Given the description of an element on the screen output the (x, y) to click on. 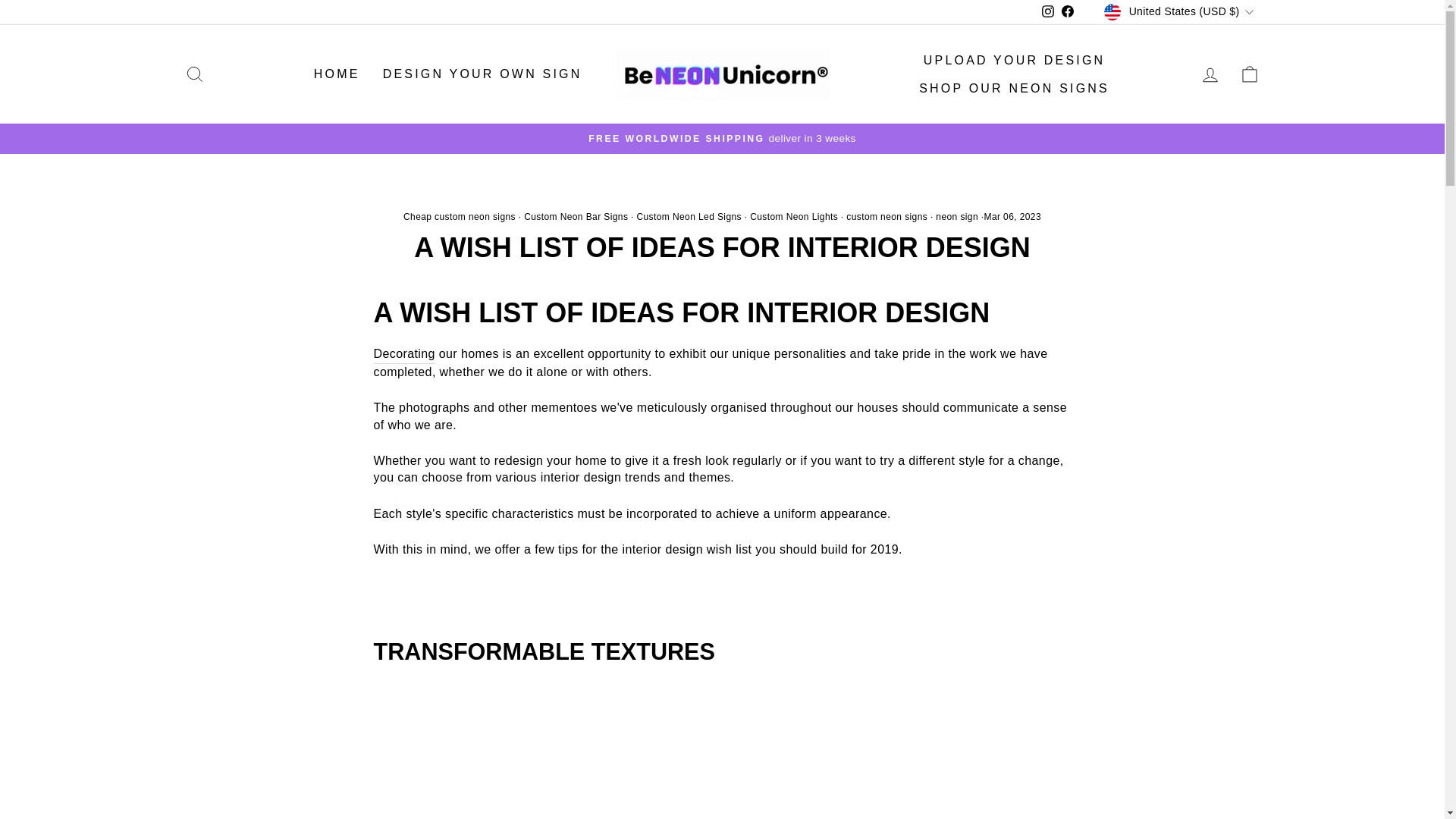
BeNeonUnicorn on Instagram (1048, 12)
Instagram (1048, 12)
DESIGN YOUR OWN SIGN (482, 74)
BeNeonUnicorn on Facebook (1067, 12)
custom neon signs collection 01 (402, 354)
YouTube video player (584, 750)
HOME (336, 74)
Facebook (1067, 12)
SEARCH (194, 74)
